Given the description of an element on the screen output the (x, y) to click on. 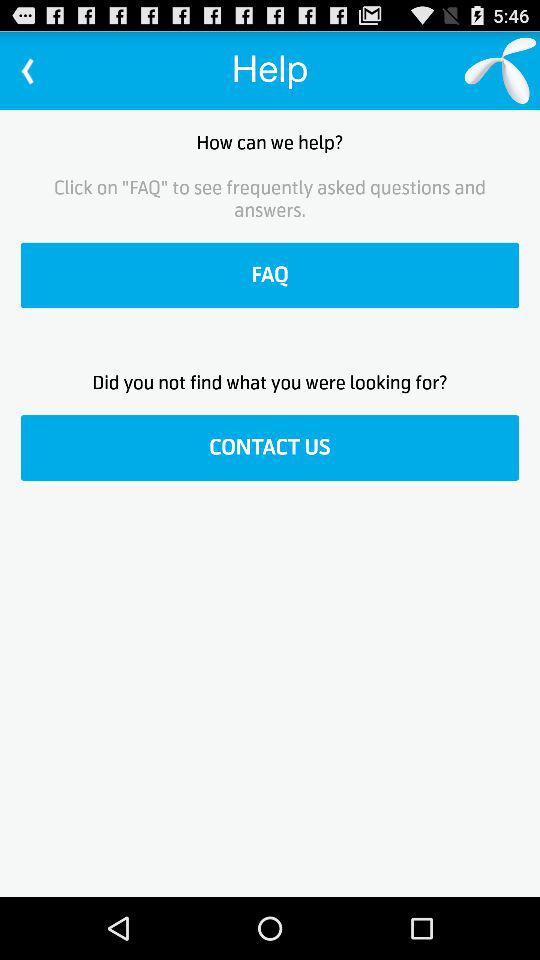
launch the icon below did you not (270, 447)
